Given the description of an element on the screen output the (x, y) to click on. 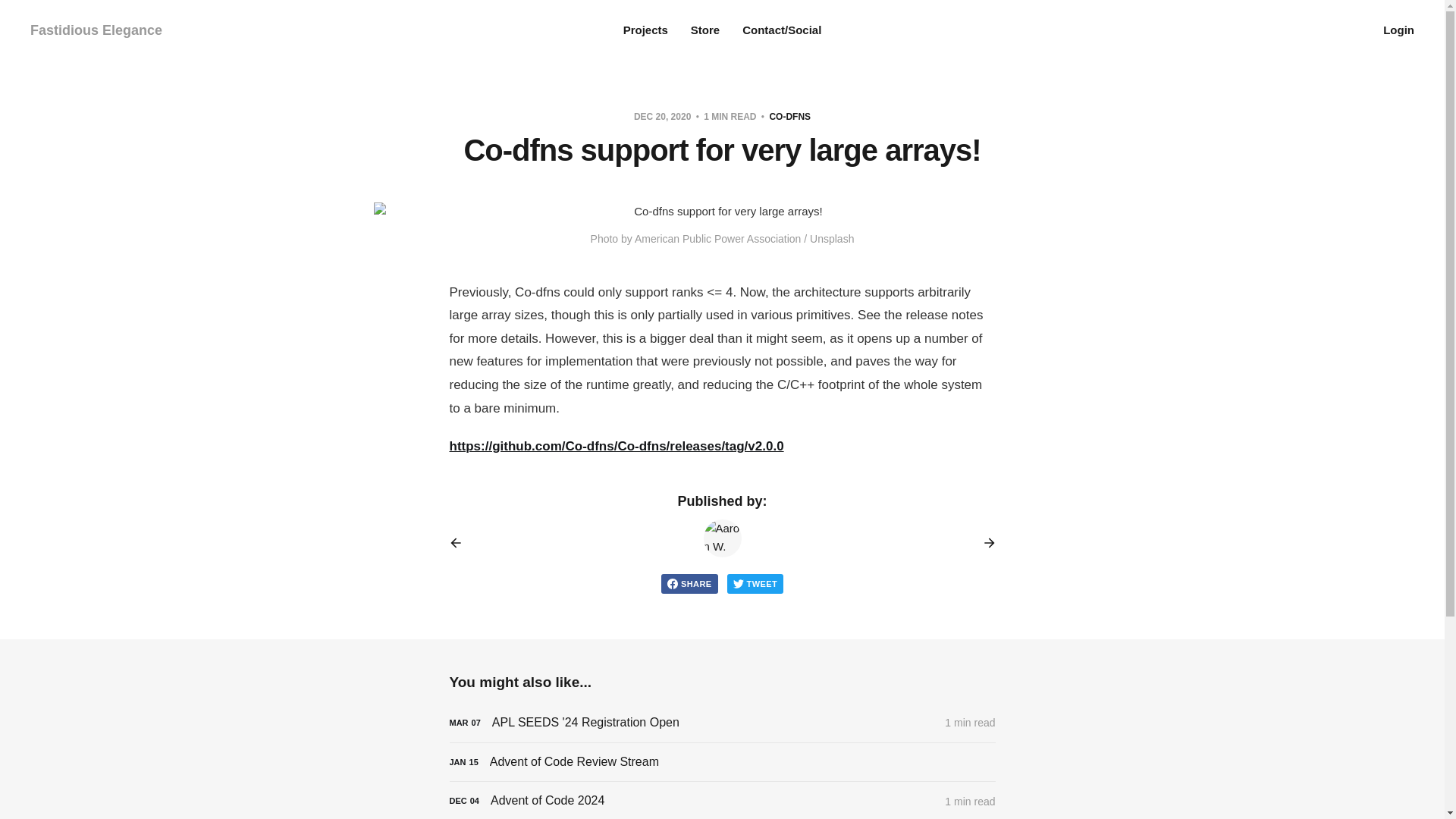
Login (1398, 30)
Unsplash (831, 238)
CO-DFNS (789, 116)
Fastidious Elegance (95, 30)
SHARE (689, 583)
Projects (645, 30)
TWEET (755, 583)
Store (704, 30)
American Public Power Association (717, 238)
